Given the description of an element on the screen output the (x, y) to click on. 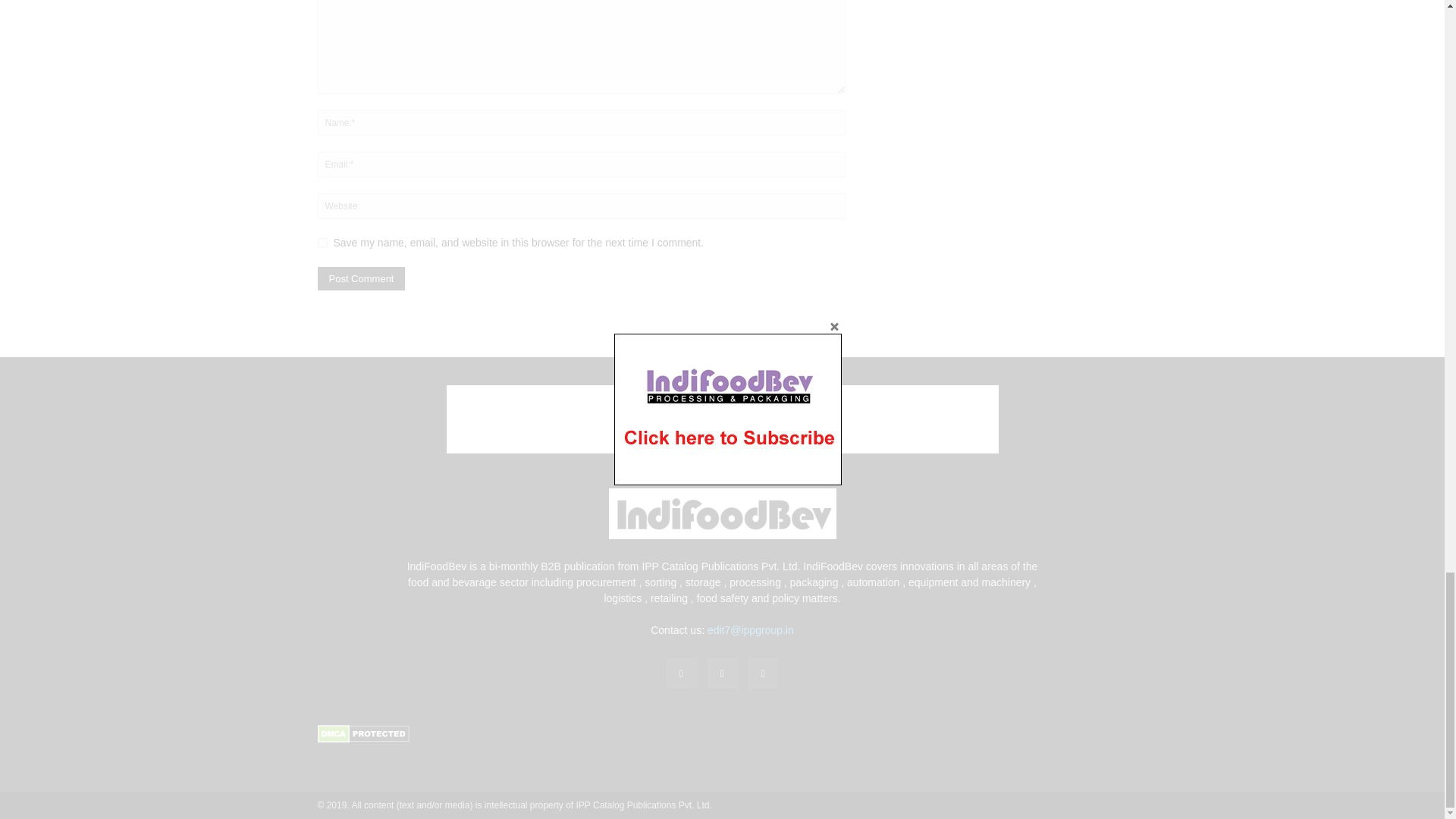
yes (321, 243)
Post Comment (360, 278)
